Given the description of an element on the screen output the (x, y) to click on. 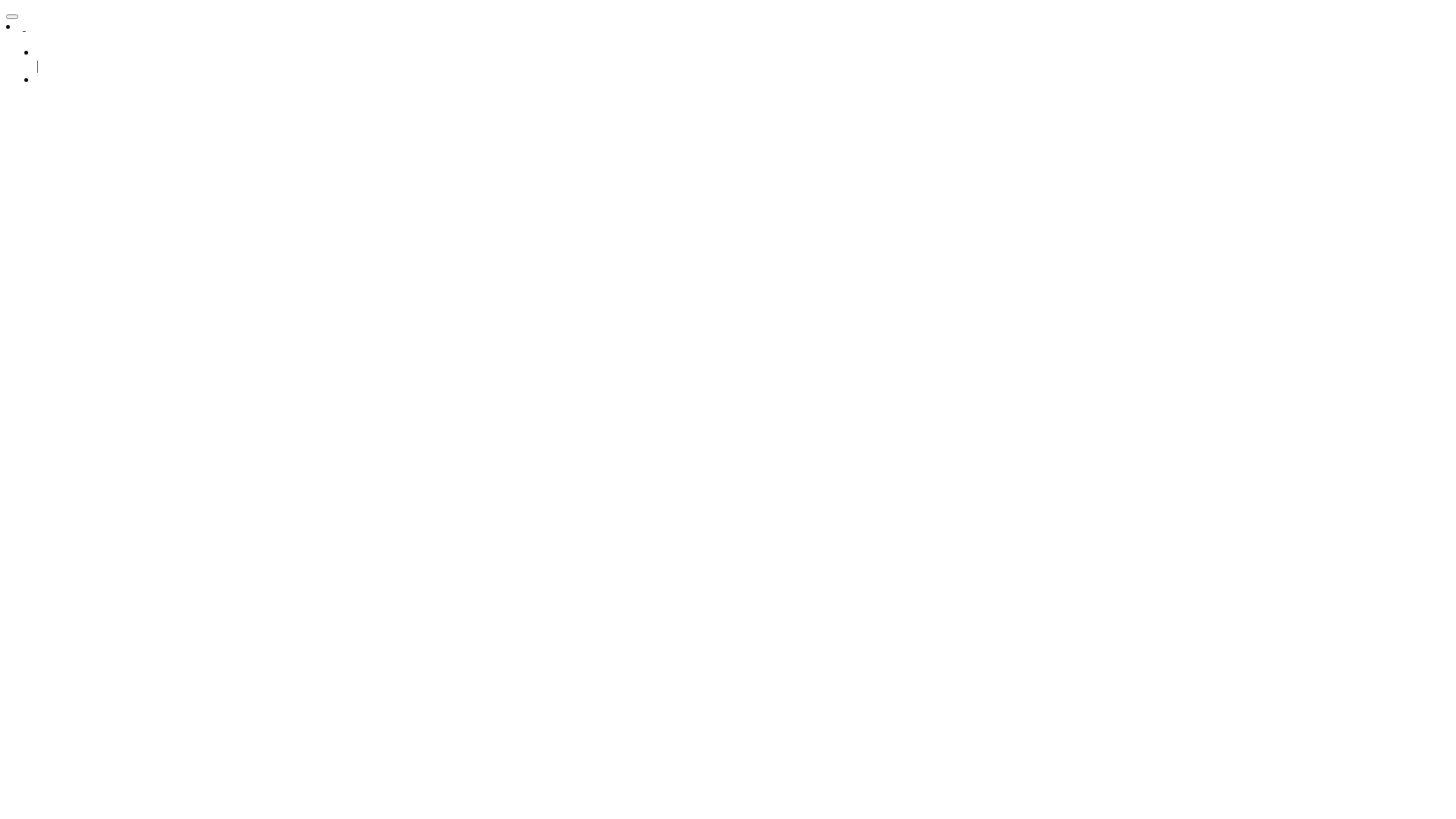
  Element type: text (23, 25)
